Given the description of an element on the screen output the (x, y) to click on. 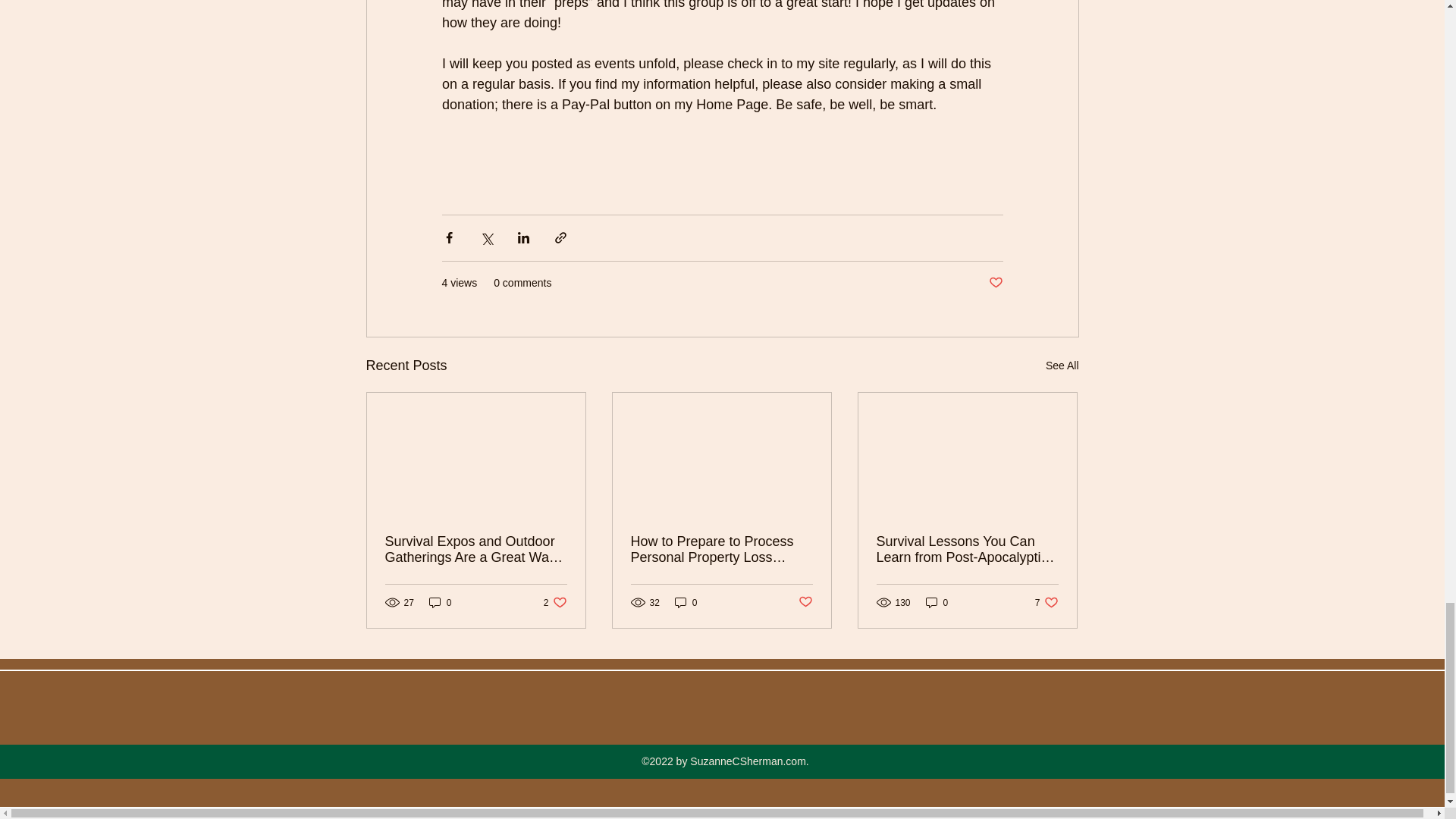
Survival Lessons You Can Learn from Post-Apocalyptic Novels (967, 549)
How to Prepare to Process Personal Property Loss Claims (721, 549)
See All (1061, 365)
0 (440, 602)
Post not marked as liked (555, 602)
0 (995, 283)
Post not marked as liked (937, 602)
